Given the description of an element on the screen output the (x, y) to click on. 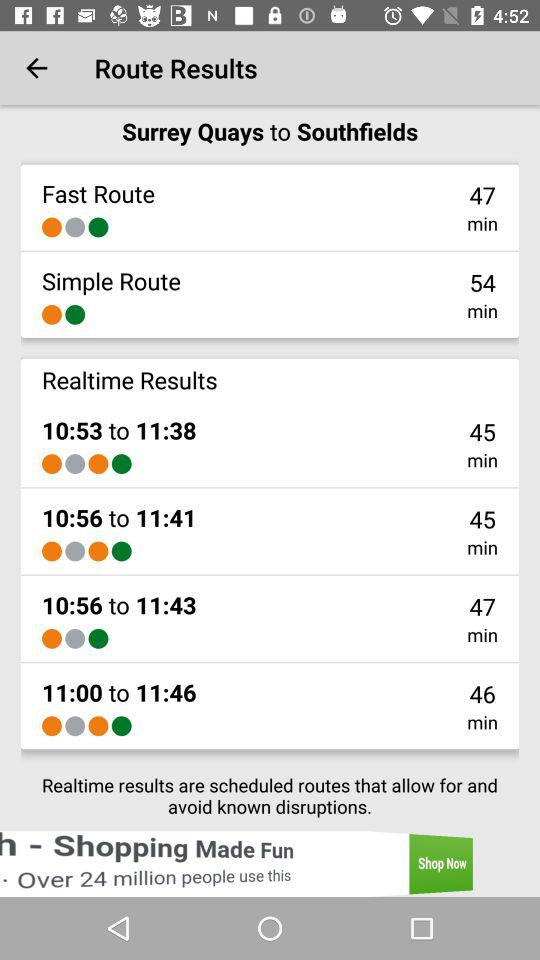
choose item below 10 53 to item (75, 464)
